Given the description of an element on the screen output the (x, y) to click on. 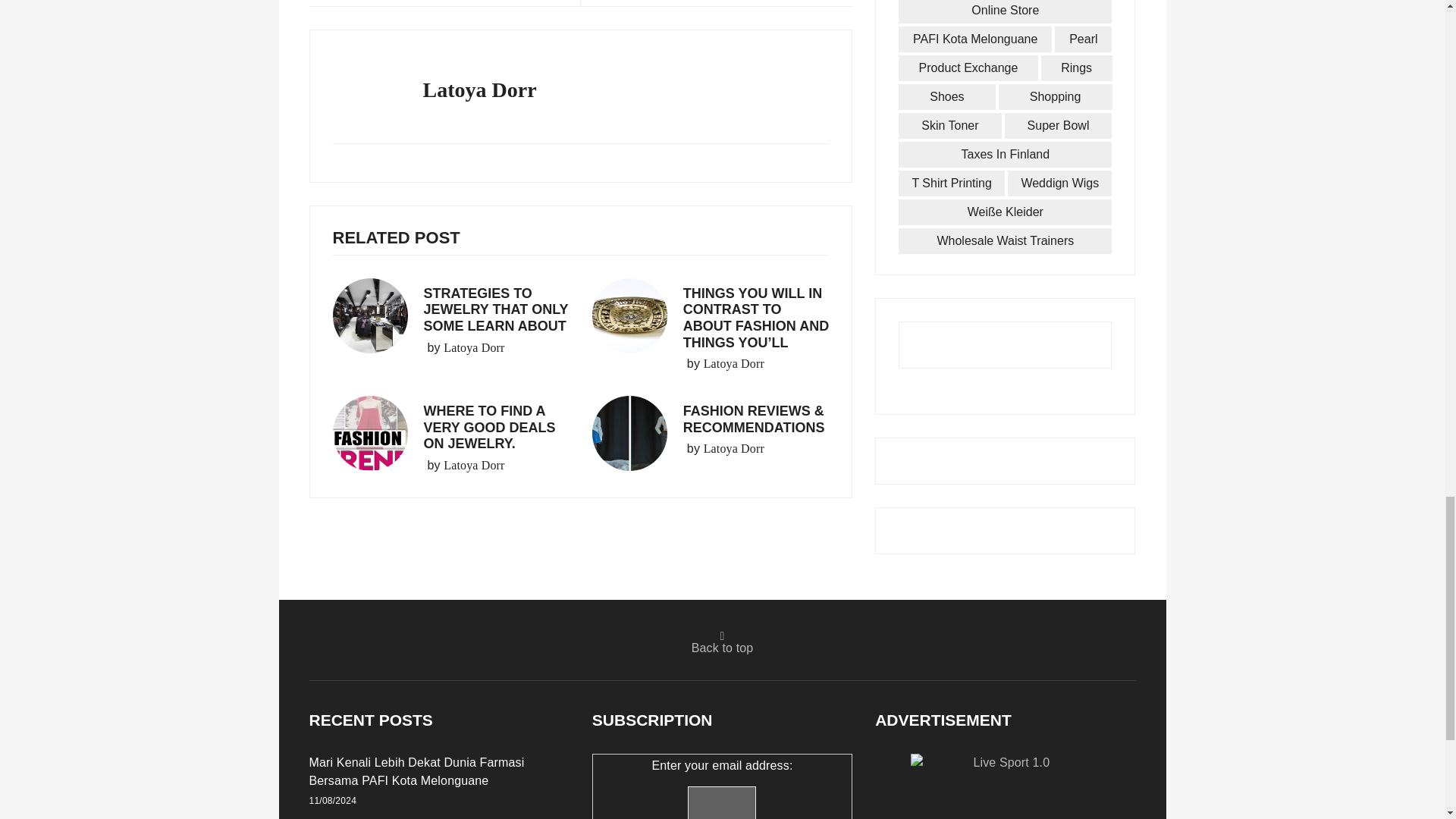
Live Sport 1.0 (1005, 786)
Latoya Dorr (473, 348)
Latoya Dorr (733, 448)
Latoya Dorr (473, 465)
STRATEGIES TO JEWELRY THAT ONLY SOME LEARN ABOUT (495, 309)
WHERE TO FIND A VERY GOOD DEALS ON JEWELRY. (488, 427)
Latoya Dorr (733, 363)
